Given the description of an element on the screen output the (x, y) to click on. 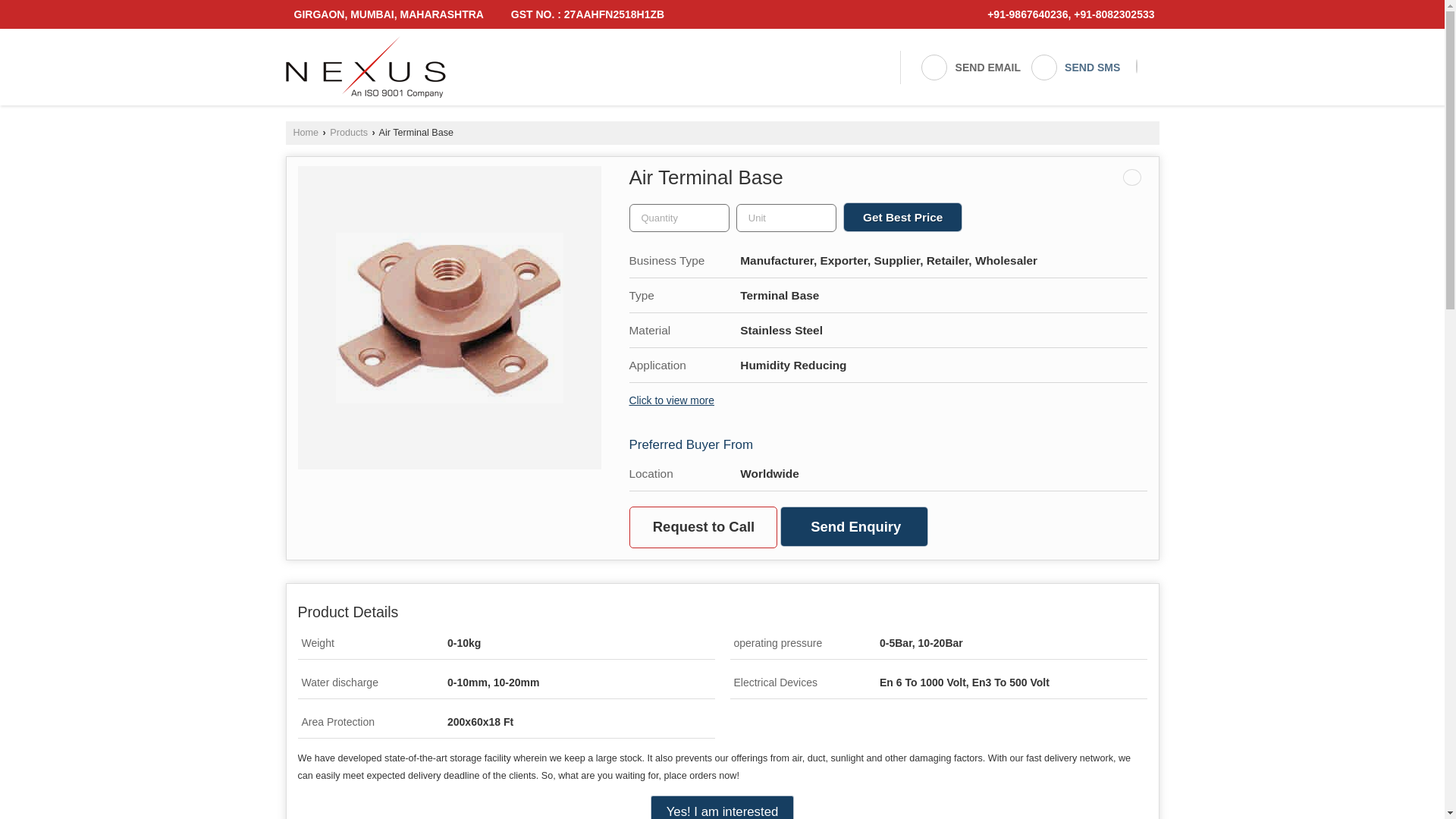
Send Enquiry (854, 526)
Yes! I am interested (722, 807)
Get Best Price (902, 216)
Request to Call (702, 526)
SEND EMAIL (970, 67)
Air Terminal Base (448, 317)
SEND SMS (1075, 67)
Products (349, 132)
Click to view more (671, 399)
Home (305, 132)
